Given the description of an element on the screen output the (x, y) to click on. 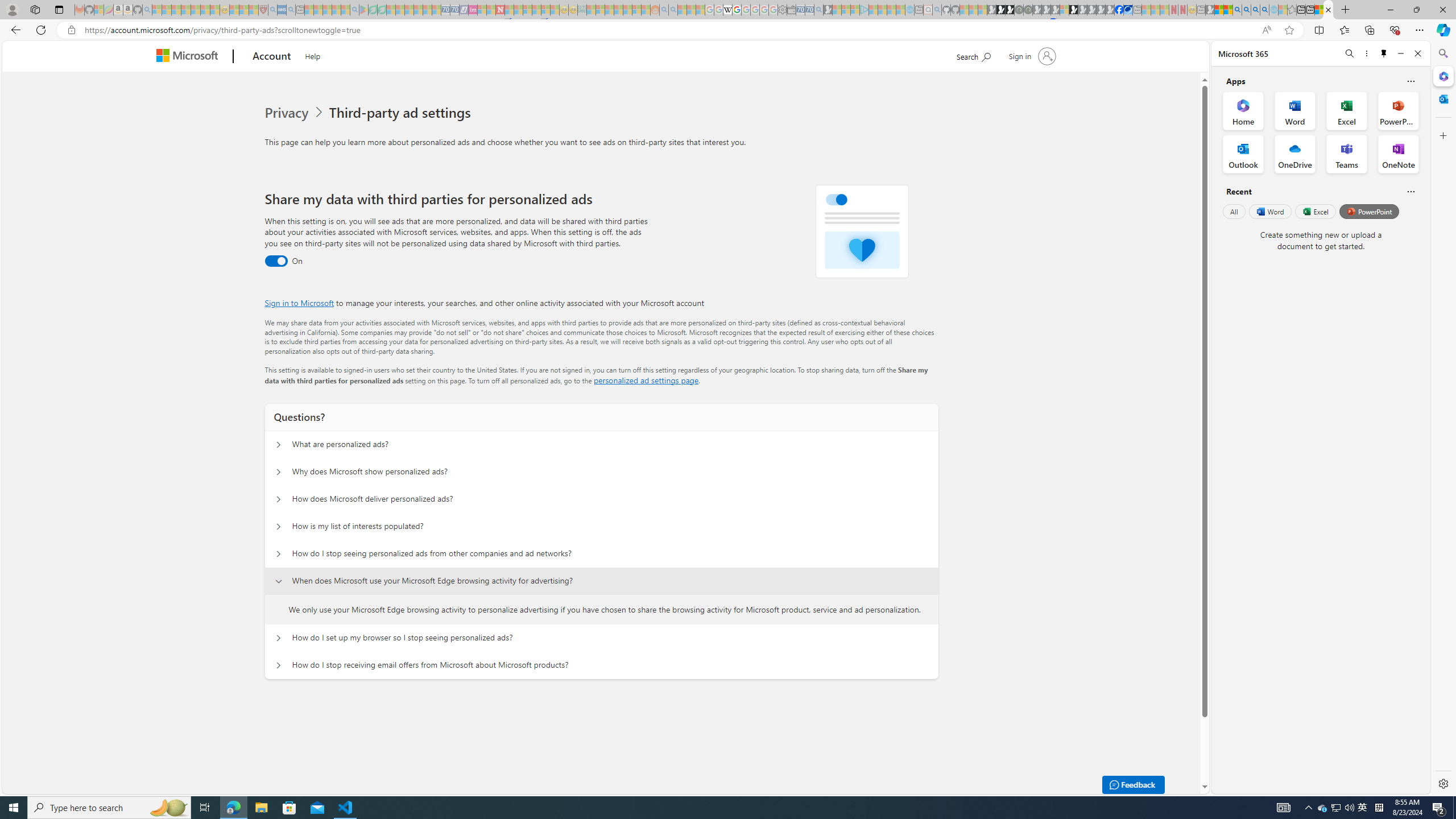
Latest Politics News & Archive | Newsweek.com - Sleeping (499, 9)
Help (312, 54)
Settings - Sleeping (782, 9)
PowerPoint Office App (1398, 110)
Sign in to Microsoft (299, 302)
Teams Office App (1346, 154)
Account (272, 56)
Microsoft Start Gaming - Sleeping (827, 9)
